Given the description of an element on the screen output the (x, y) to click on. 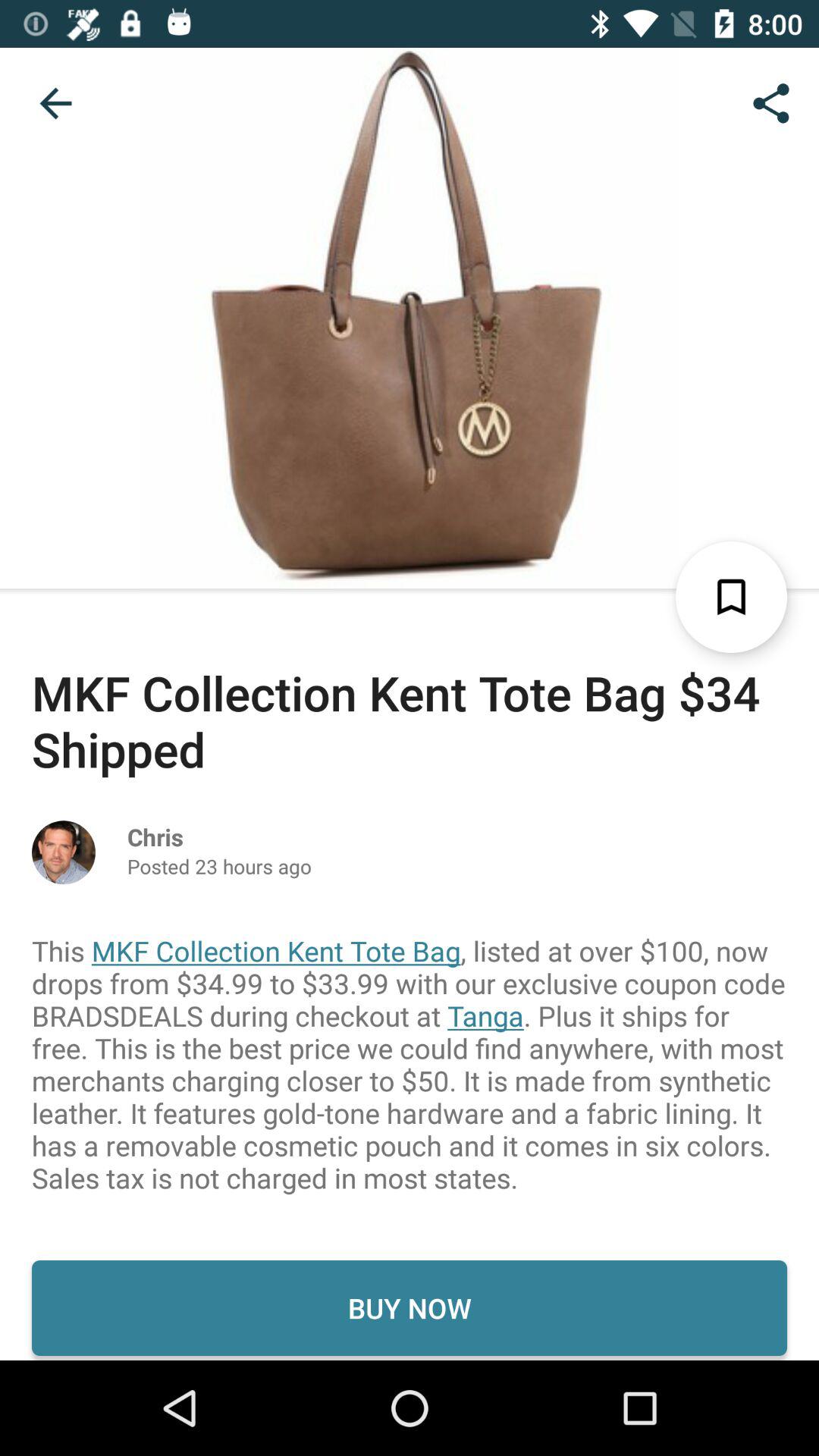
turn on icon above the mkf collection kent icon (55, 103)
